Given the description of an element on the screen output the (x, y) to click on. 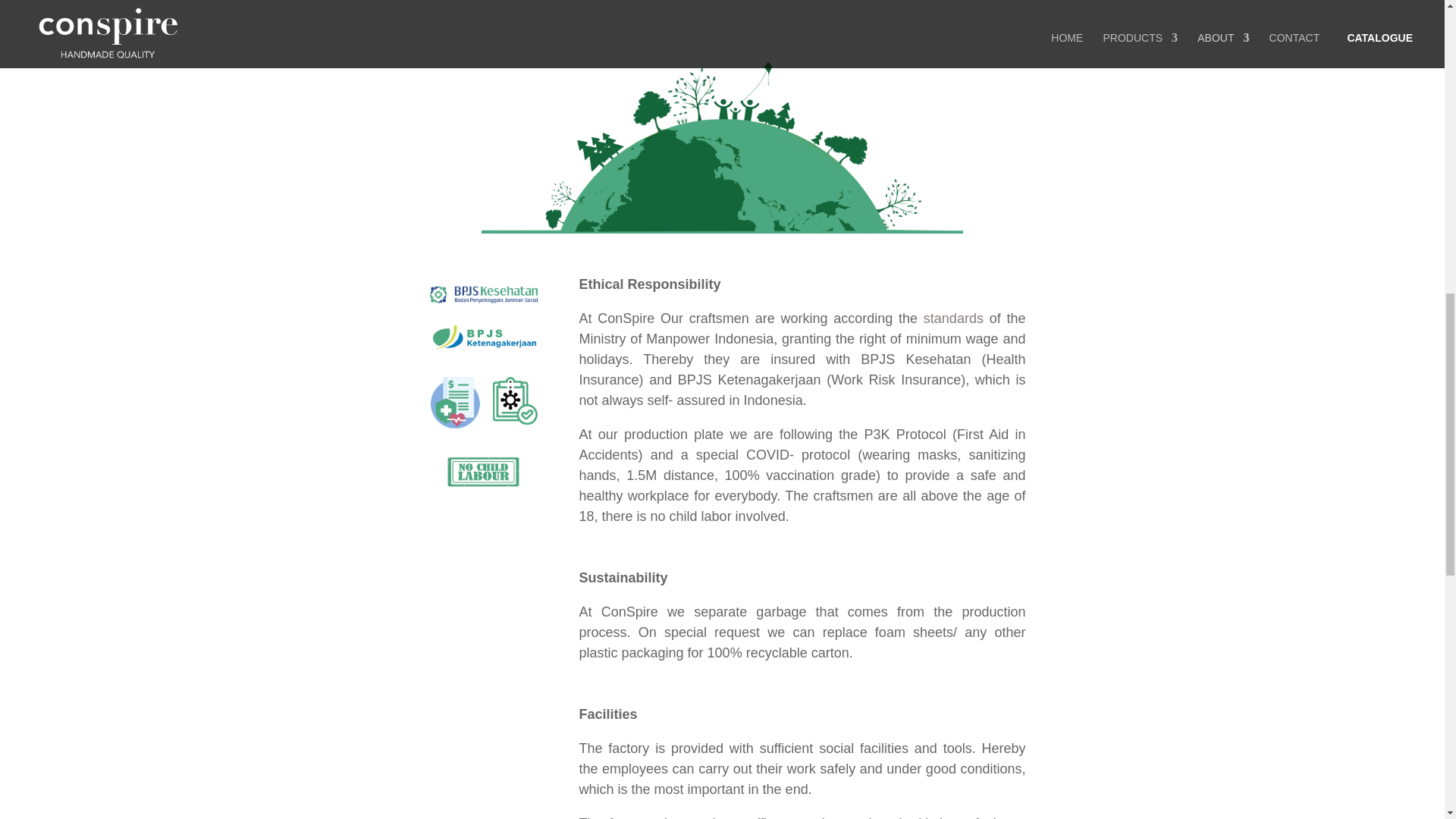
standards (953, 318)
CSR Policy ConSpire (481, 608)
Corporate Social Responsibility - ConSpire (721, 147)
CSR Policy ConSpire (481, 744)
